Given the description of an element on the screen output the (x, y) to click on. 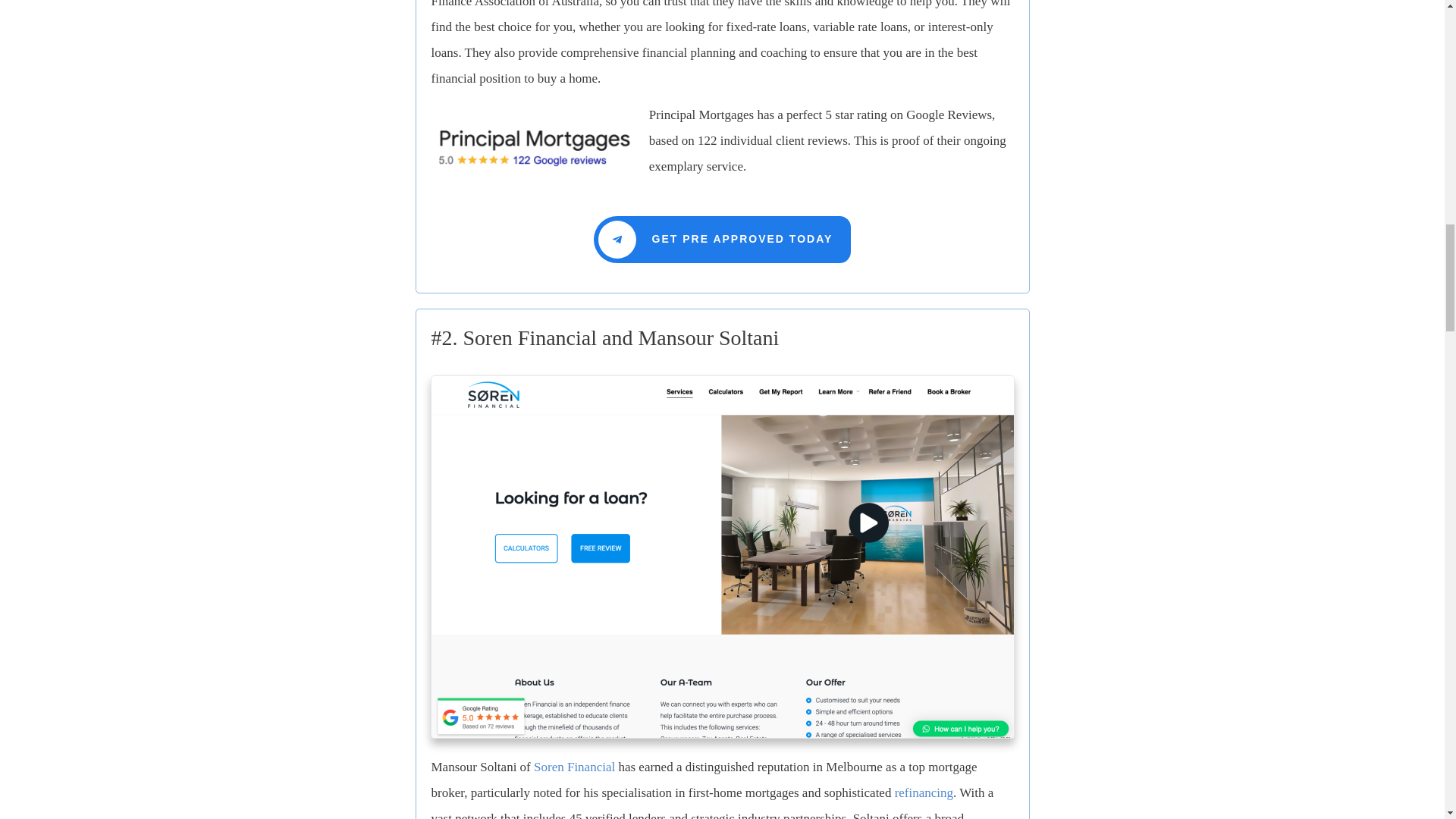
 GET PRE APPROVED TODAY (722, 239)
refinancing (924, 792)
Principal Mortgages 5 star (533, 145)
Soren Financial (574, 766)
